Given the description of an element on the screen output the (x, y) to click on. 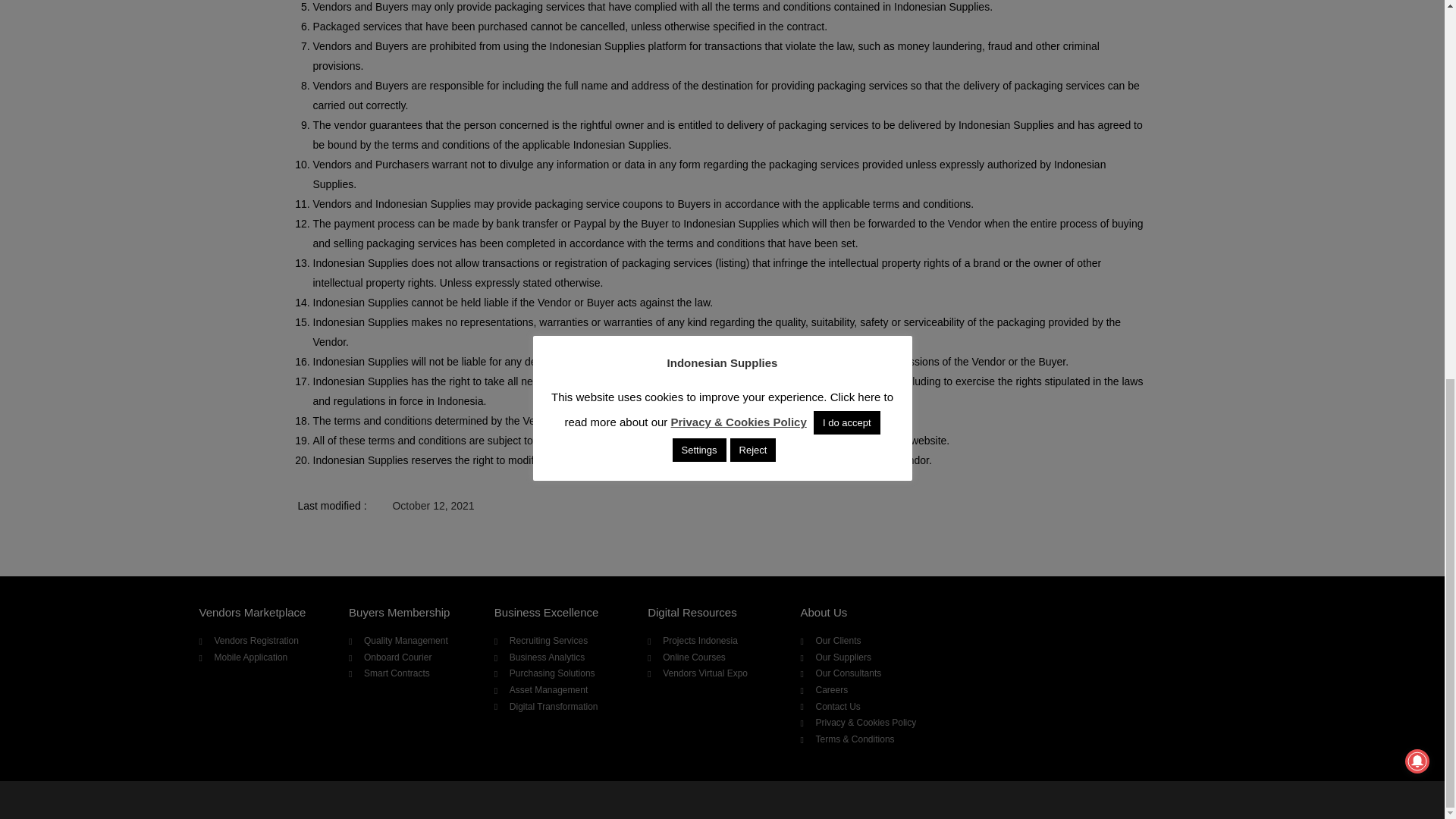
Quality Management (414, 641)
Onboard Courier (414, 658)
October 12, 2021 (432, 505)
Vendors Registration (265, 641)
Sampoerna Strategic Square (1082, 684)
Mobile Application (265, 658)
Vendors Marketplace (251, 612)
Buyers Membership (399, 612)
